Given the description of an element on the screen output the (x, y) to click on. 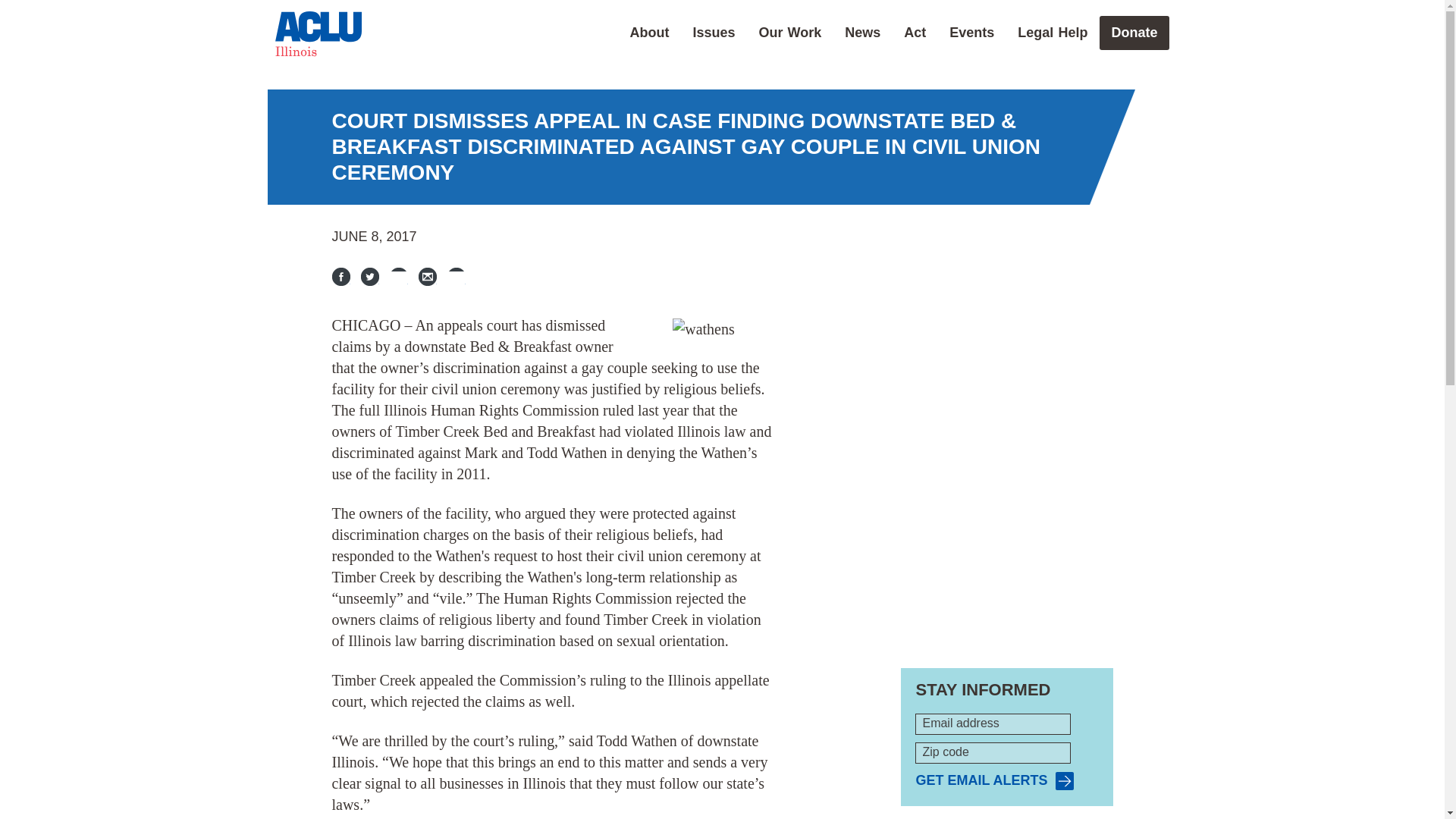
Act (914, 32)
Get email alerts (994, 781)
Submit this to Reddit (398, 276)
Submit this to Facebook (340, 276)
Email this page (427, 276)
ACLU of Illinois - logo (318, 33)
Zip code (992, 752)
Submit this to Twitter (369, 276)
Events (971, 32)
